Given the description of an element on the screen output the (x, y) to click on. 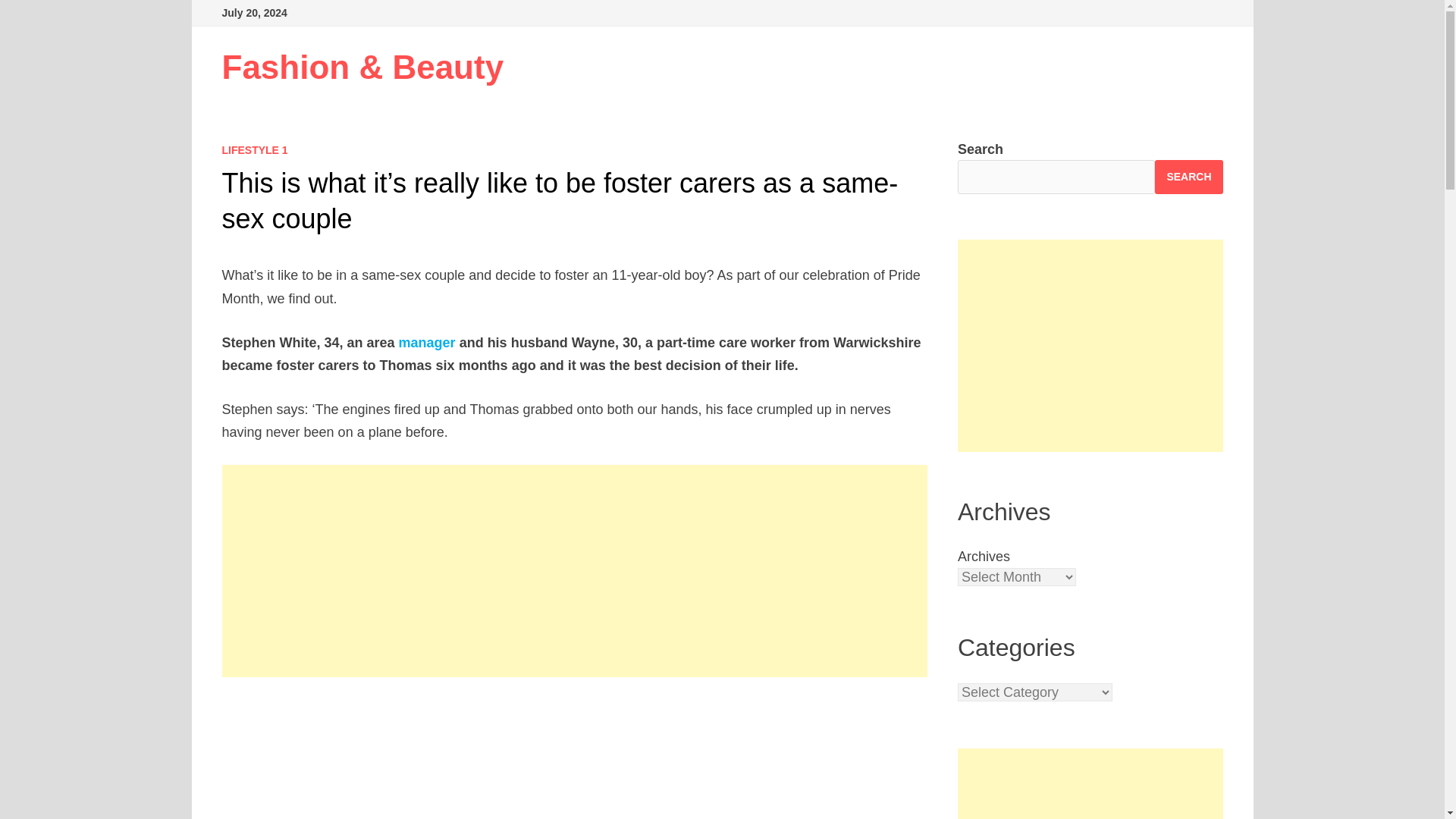
SEARCH (1188, 176)
Advertisement (1090, 345)
manager (426, 342)
Advertisement (574, 758)
Advertisement (1090, 783)
LIFESTYLE 1 (253, 150)
